Given the description of an element on the screen output the (x, y) to click on. 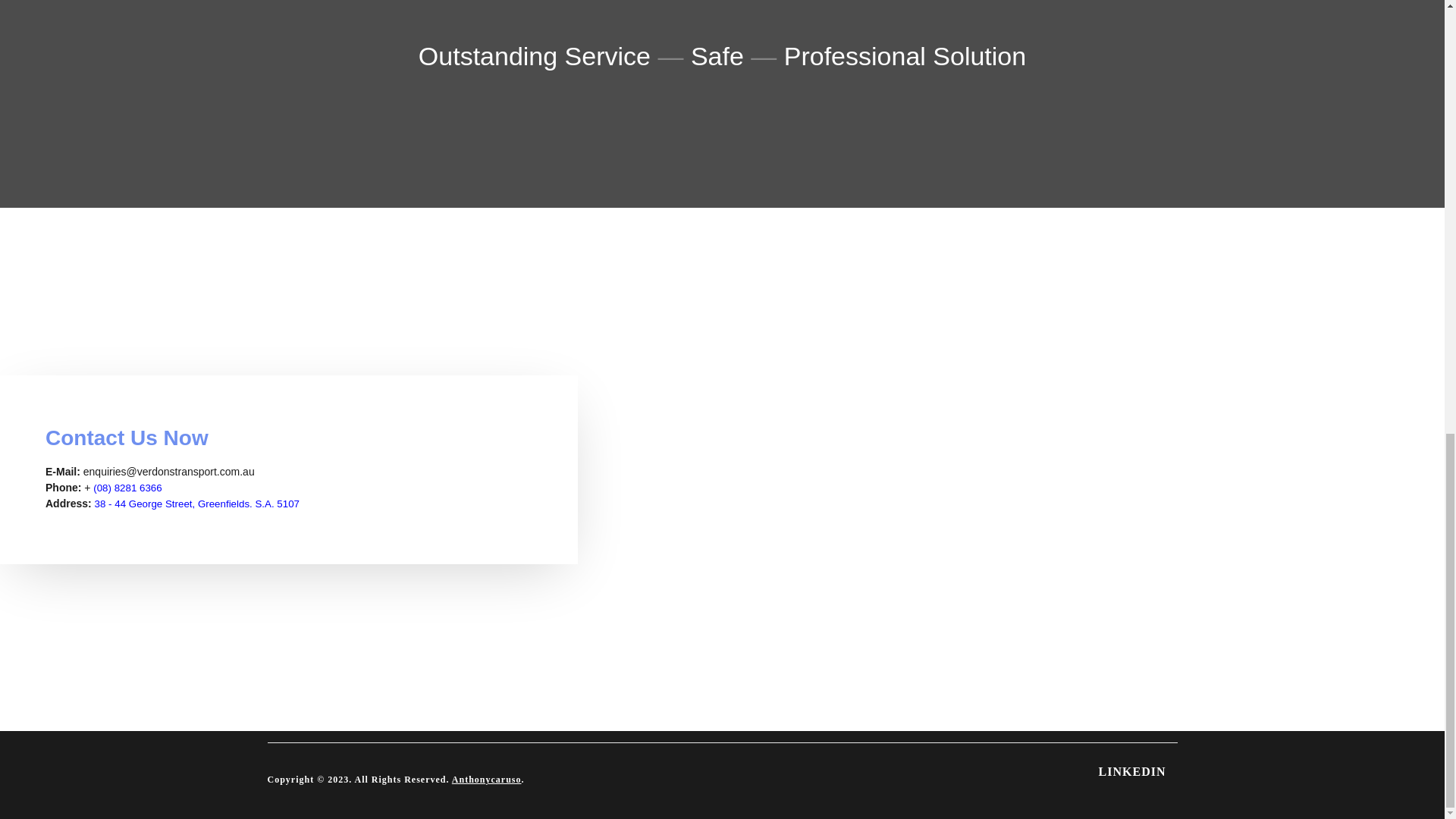
Outstanding Service (534, 55)
Professional Solution (905, 55)
Safe (720, 55)
Anthonycaruso (486, 778)
LINKEDIN (1132, 771)
